Given the description of an element on the screen output the (x, y) to click on. 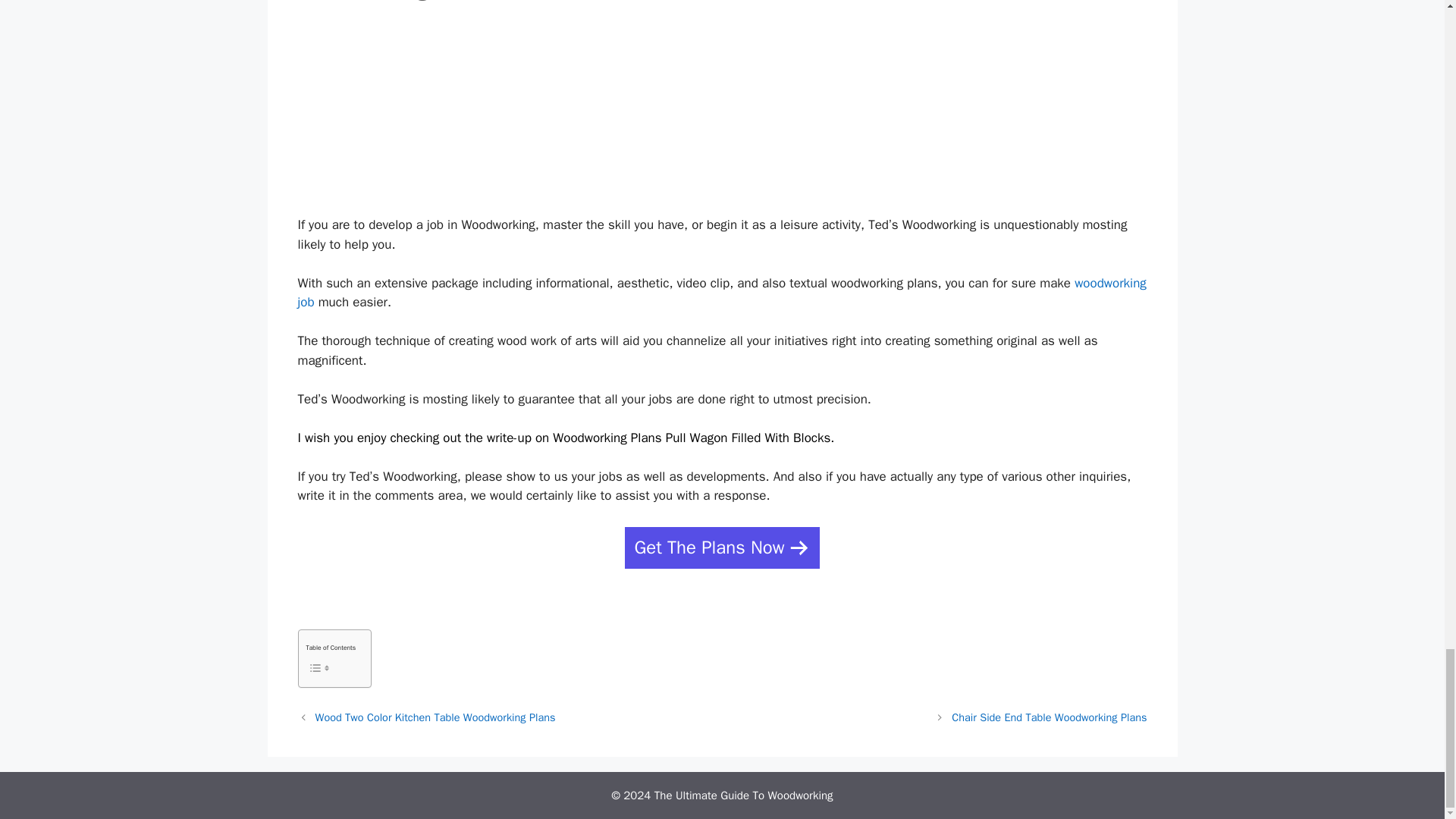
Chair Side End Table Woodworking Plans (1049, 716)
Get The Plans Now (722, 547)
Wood Two Color Kitchen Table Woodworking Plans (435, 716)
woodworking job (721, 293)
